Given the description of an element on the screen output the (x, y) to click on. 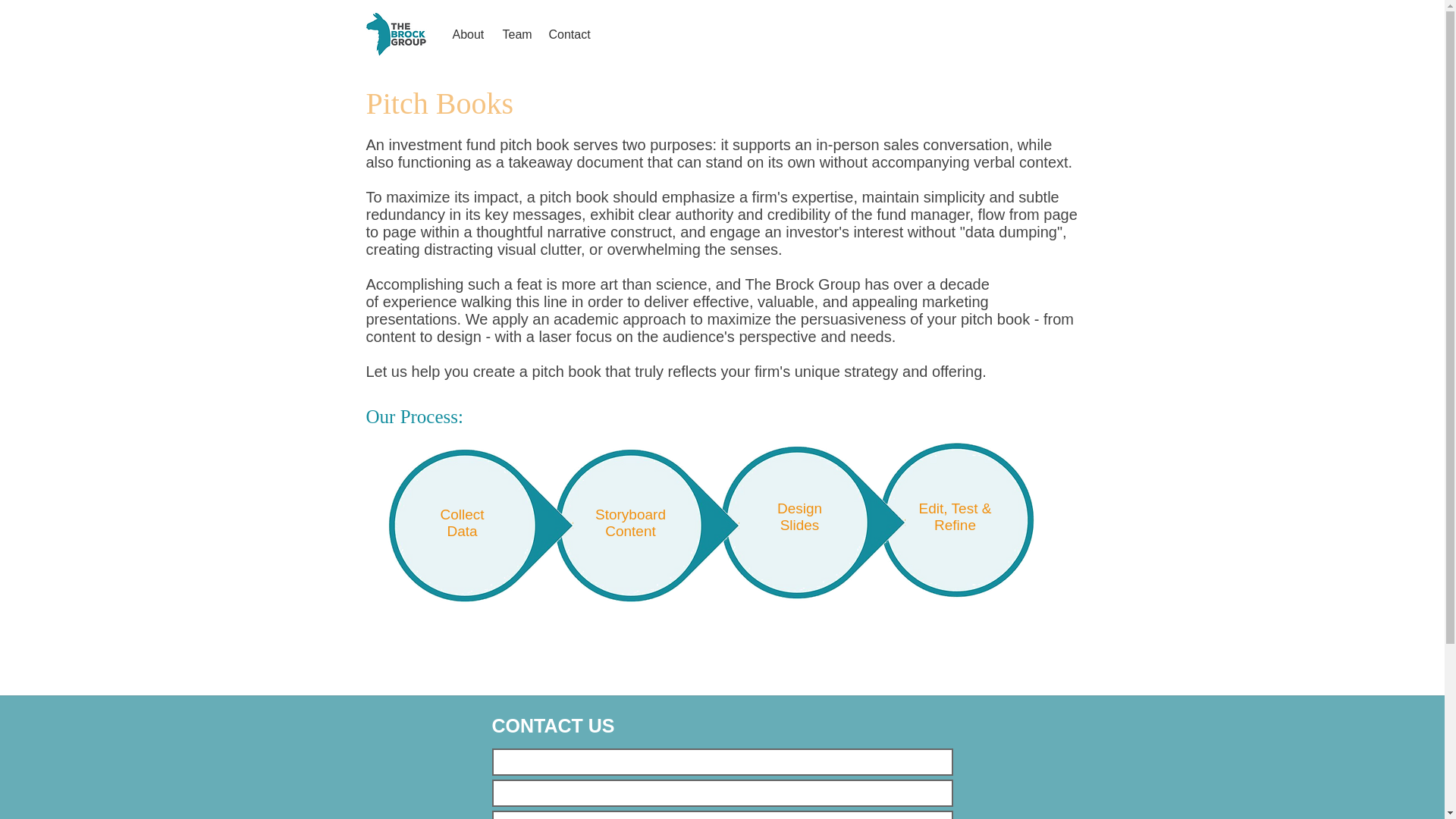
About (469, 34)
Team (517, 34)
Contact (571, 34)
